Given the description of an element on the screen output the (x, y) to click on. 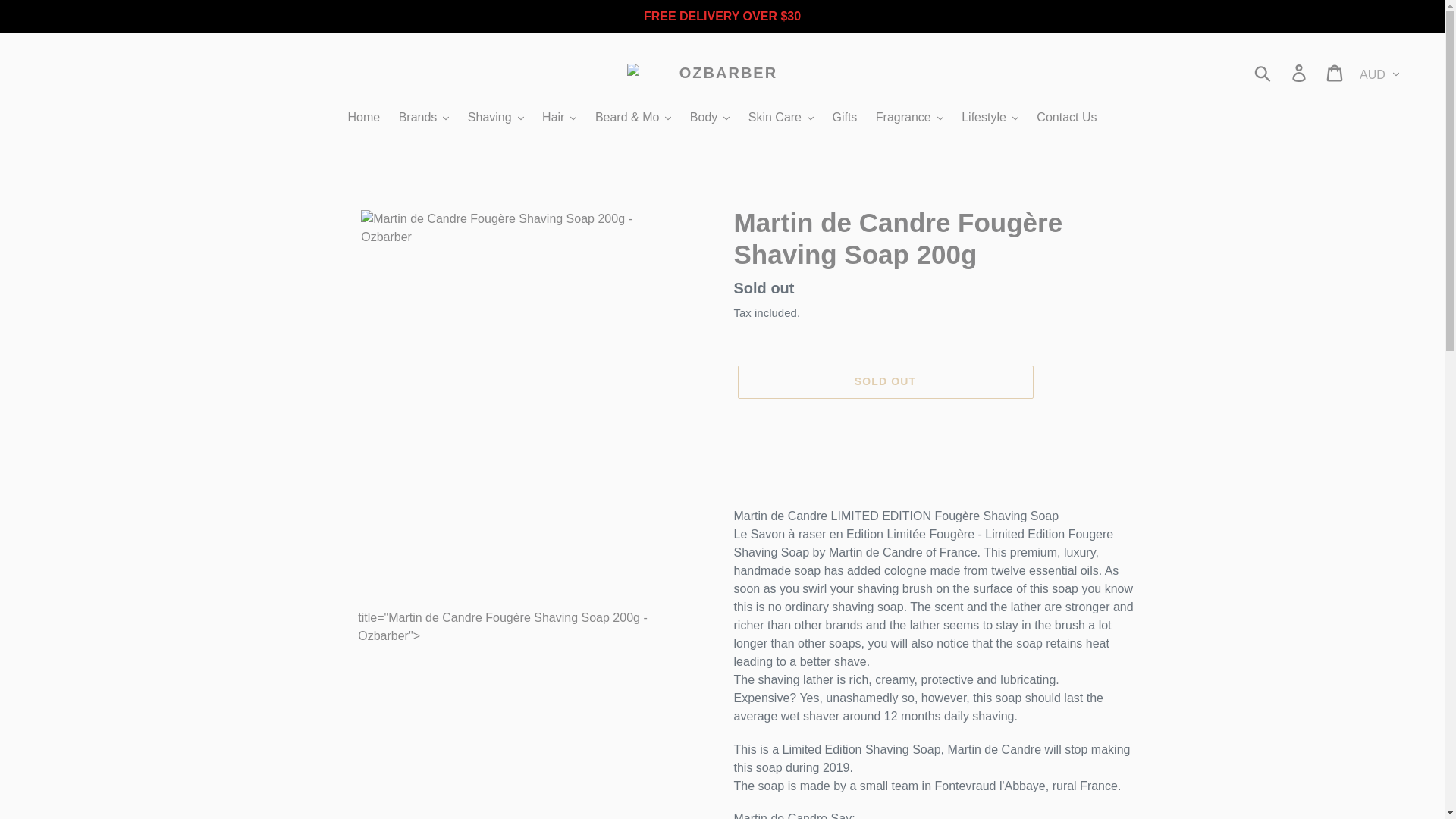
Cart (1335, 72)
Submit (1263, 72)
Ozbarber (721, 72)
Log in (1299, 72)
